Given the description of an element on the screen output the (x, y) to click on. 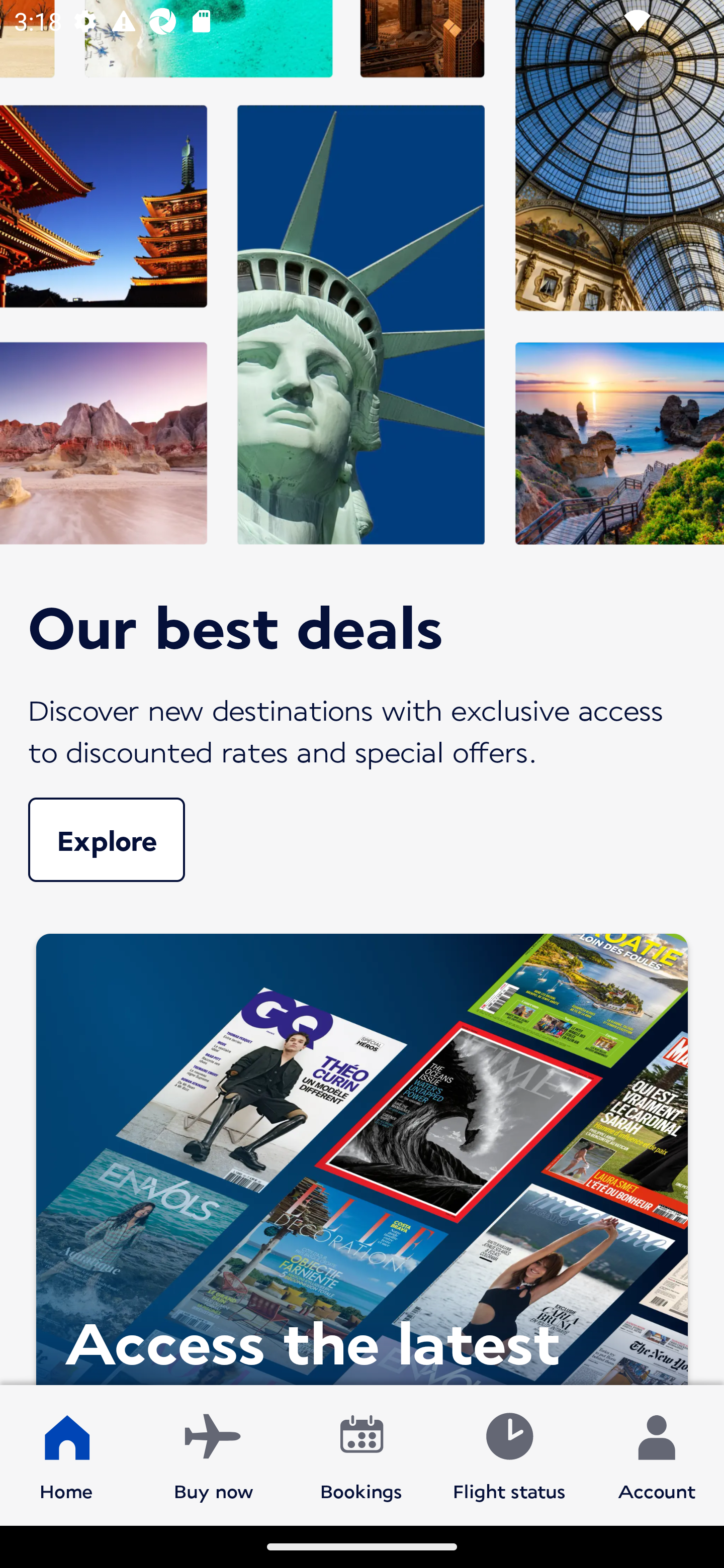
Access the latest publications (361, 1153)
Buy now (213, 1454)
Bookings (361, 1454)
Flight status (509, 1454)
Account (657, 1454)
